Given the description of an element on the screen output the (x, y) to click on. 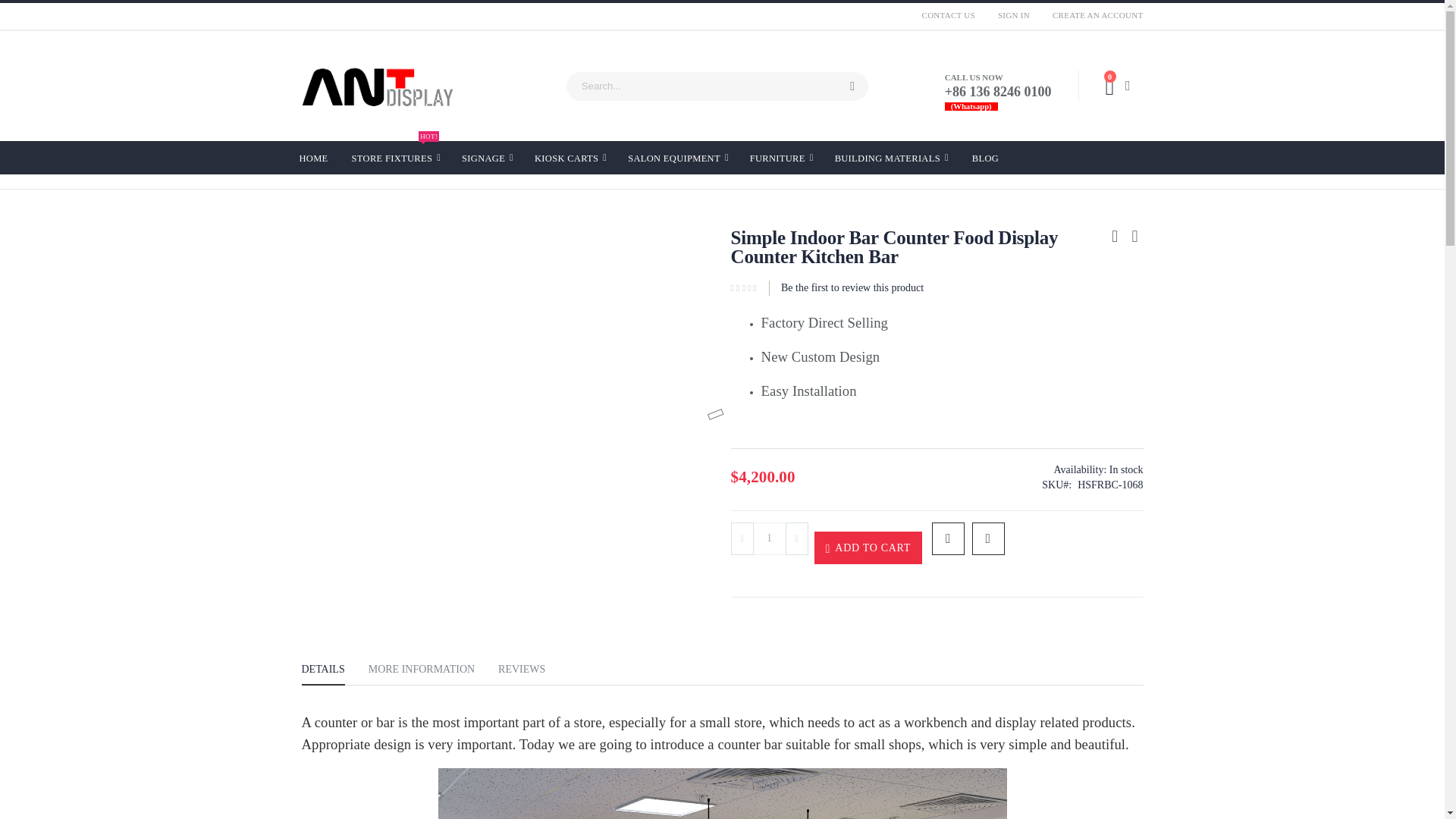
Search (851, 86)
HOME (312, 156)
1 (769, 538)
CONTACT US (395, 157)
SIGN IN (949, 15)
CREATE AN ACCOUNT (1014, 15)
Search (1091, 15)
Store Fixtures (851, 86)
